Given the description of an element on the screen output the (x, y) to click on. 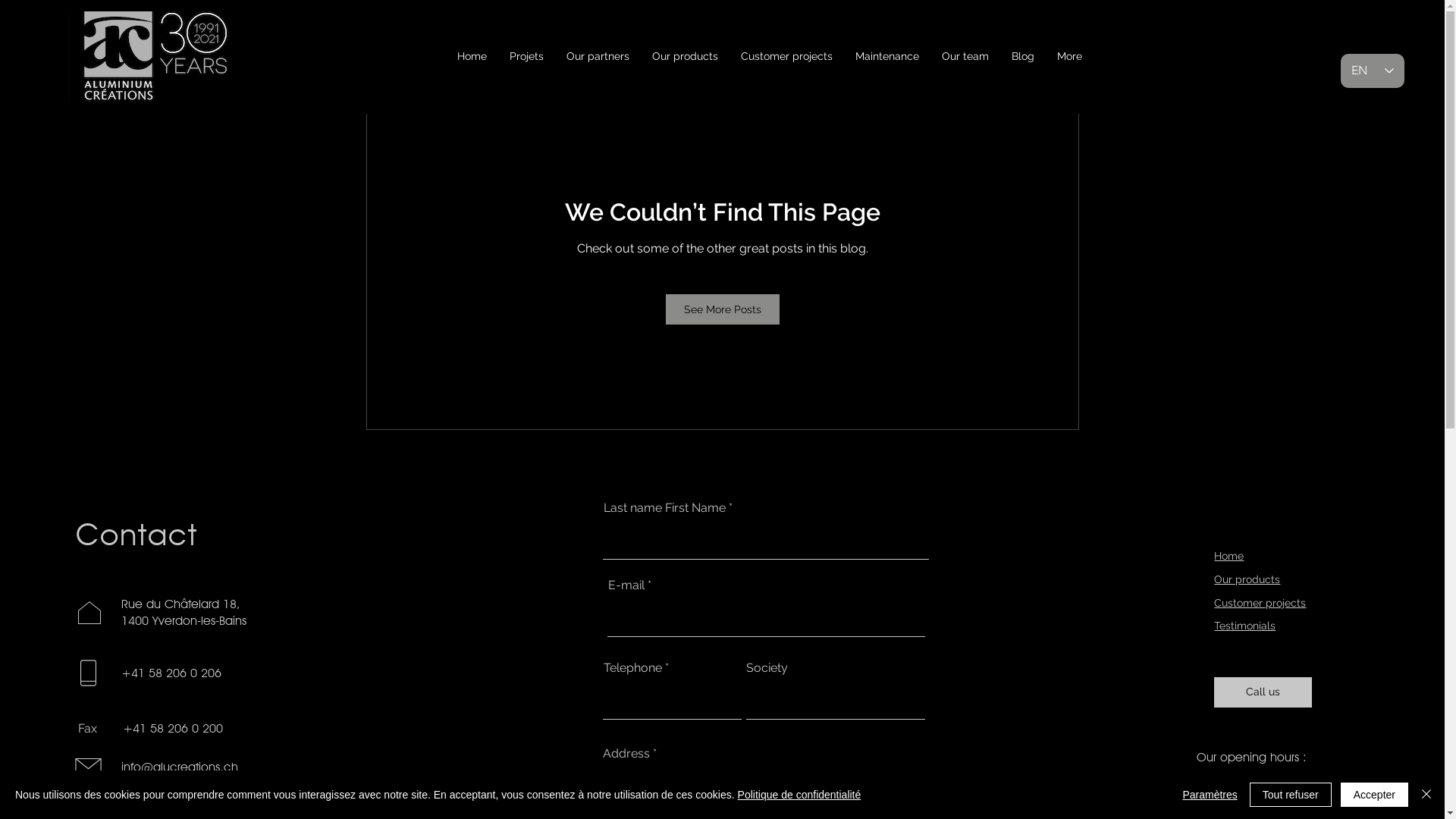
Tout refuser Element type: text (1290, 794)
Projets Element type: text (525, 56)
Customer projects Element type: text (1259, 602)
Accepter Element type: text (1374, 794)
Maintenance Element type: text (886, 56)
See More Posts Element type: text (722, 309)
Call us Element type: text (1262, 692)
Home Element type: text (1228, 555)
Our partners Element type: text (597, 56)
Testimonials Element type: text (1244, 625)
Our products Element type: text (684, 56)
Our team Element type: text (964, 56)
Customer projects Element type: text (786, 56)
Log in / Sign up Element type: text (1019, 58)
Home Element type: text (471, 56)
info@alucreations.ch Element type: text (179, 766)
Our products Element type: text (1247, 579)
Blog Element type: text (1021, 56)
Tous les posts Element type: text (400, 58)
